Given the description of an element on the screen output the (x, y) to click on. 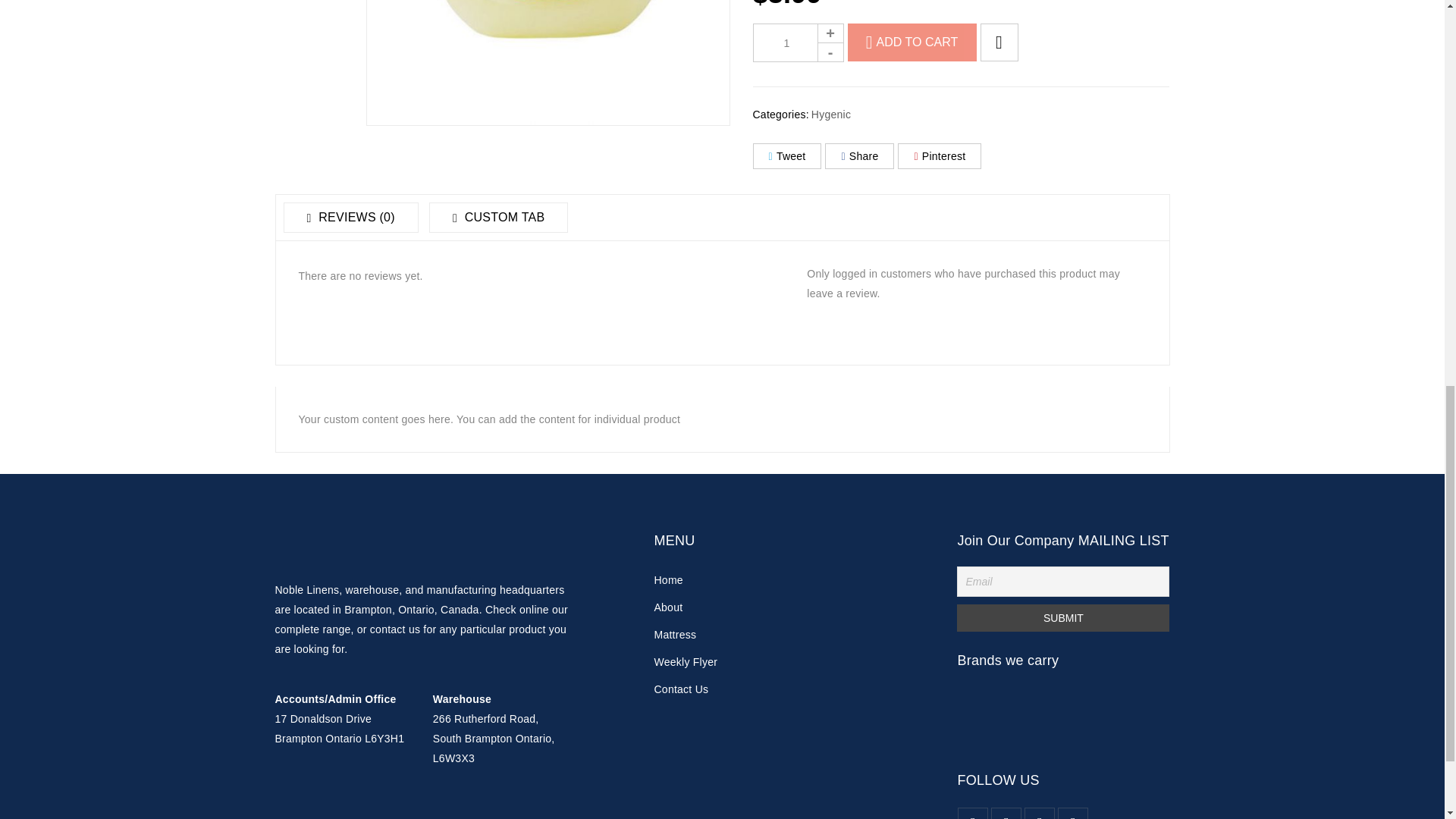
v17 (547, 63)
Submit (1062, 617)
Home (667, 580)
- (830, 52)
Mattress (674, 634)
Contact Us (680, 689)
About (667, 607)
1 (797, 42)
Track Order (685, 662)
